Given the description of an element on the screen output the (x, y) to click on. 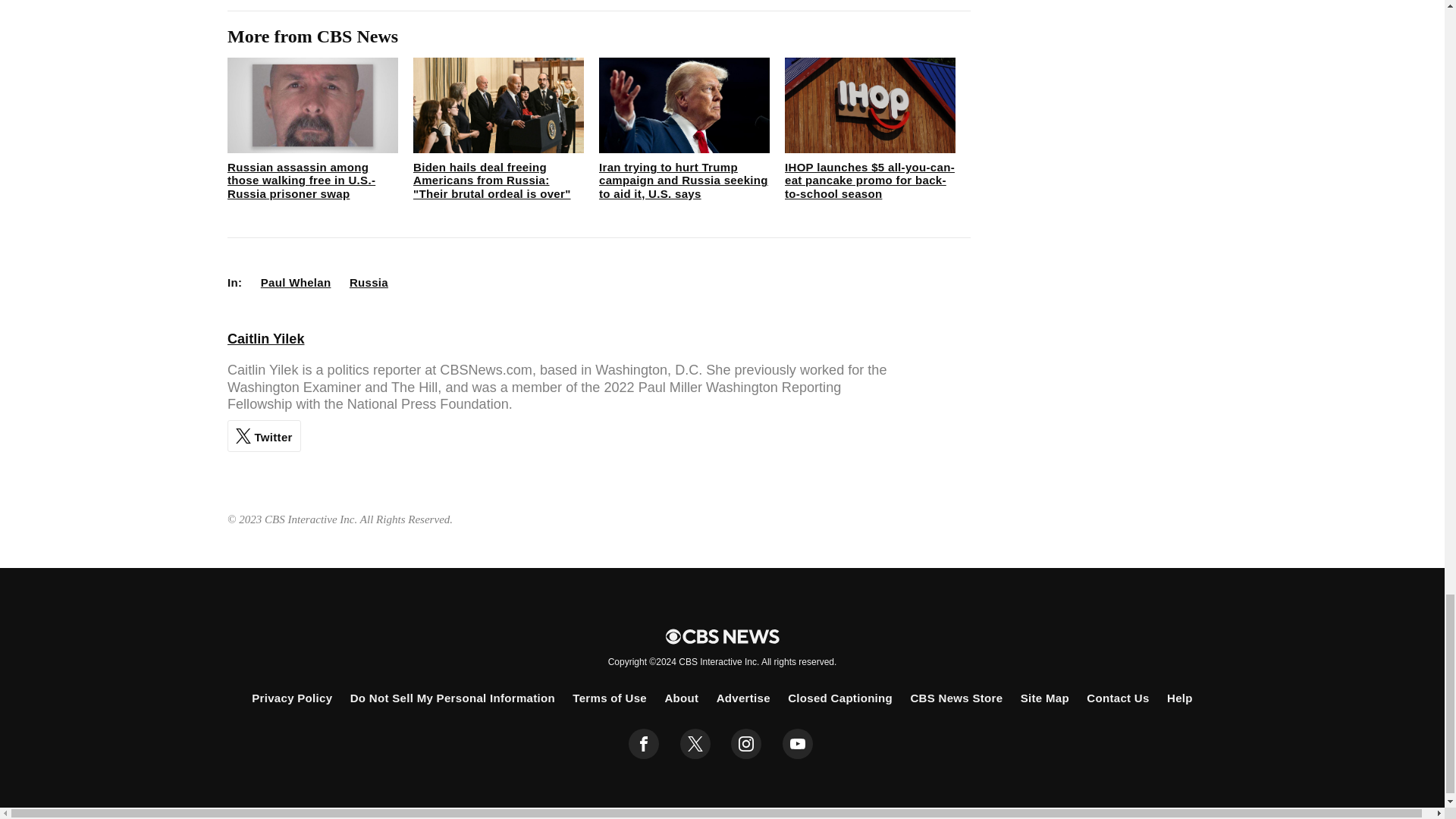
instagram (745, 743)
youtube (797, 743)
twitter (694, 743)
facebook (643, 743)
